Given the description of an element on the screen output the (x, y) to click on. 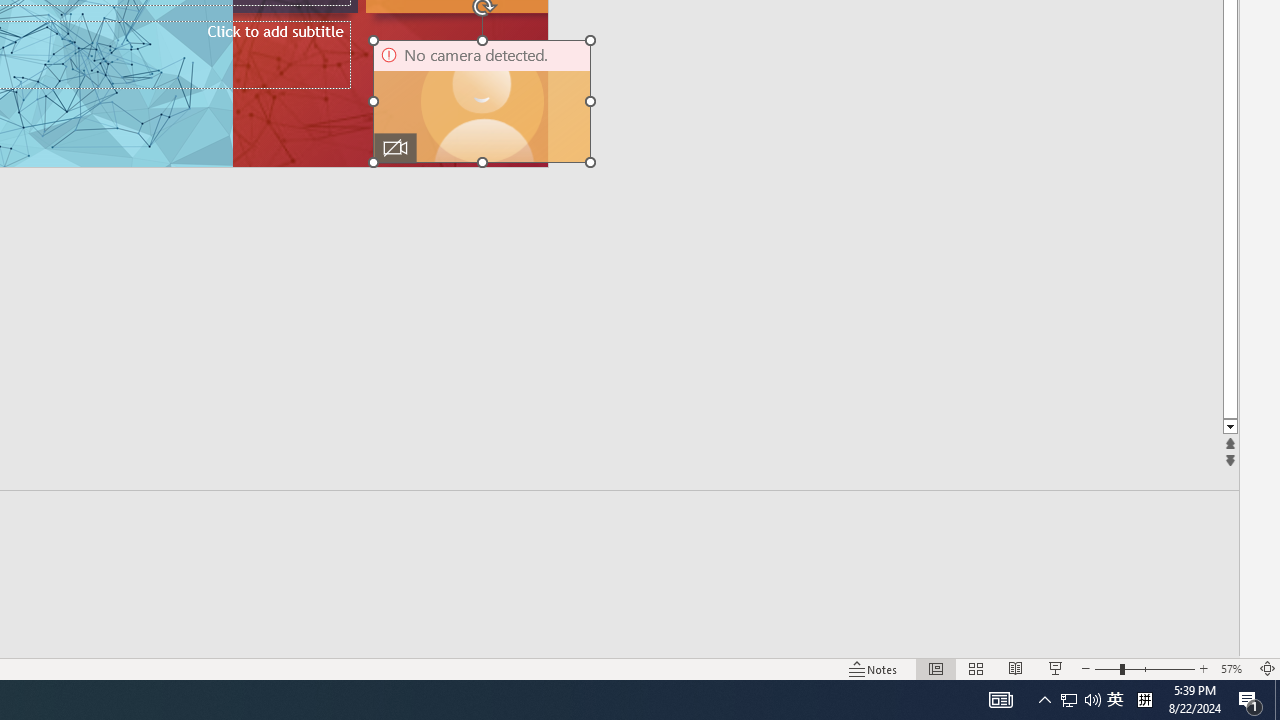
Camera 14, No camera detected. (482, 101)
Camera 11, No camera detected. (482, 101)
Zoom 57% (1234, 668)
